Given the description of an element on the screen output the (x, y) to click on. 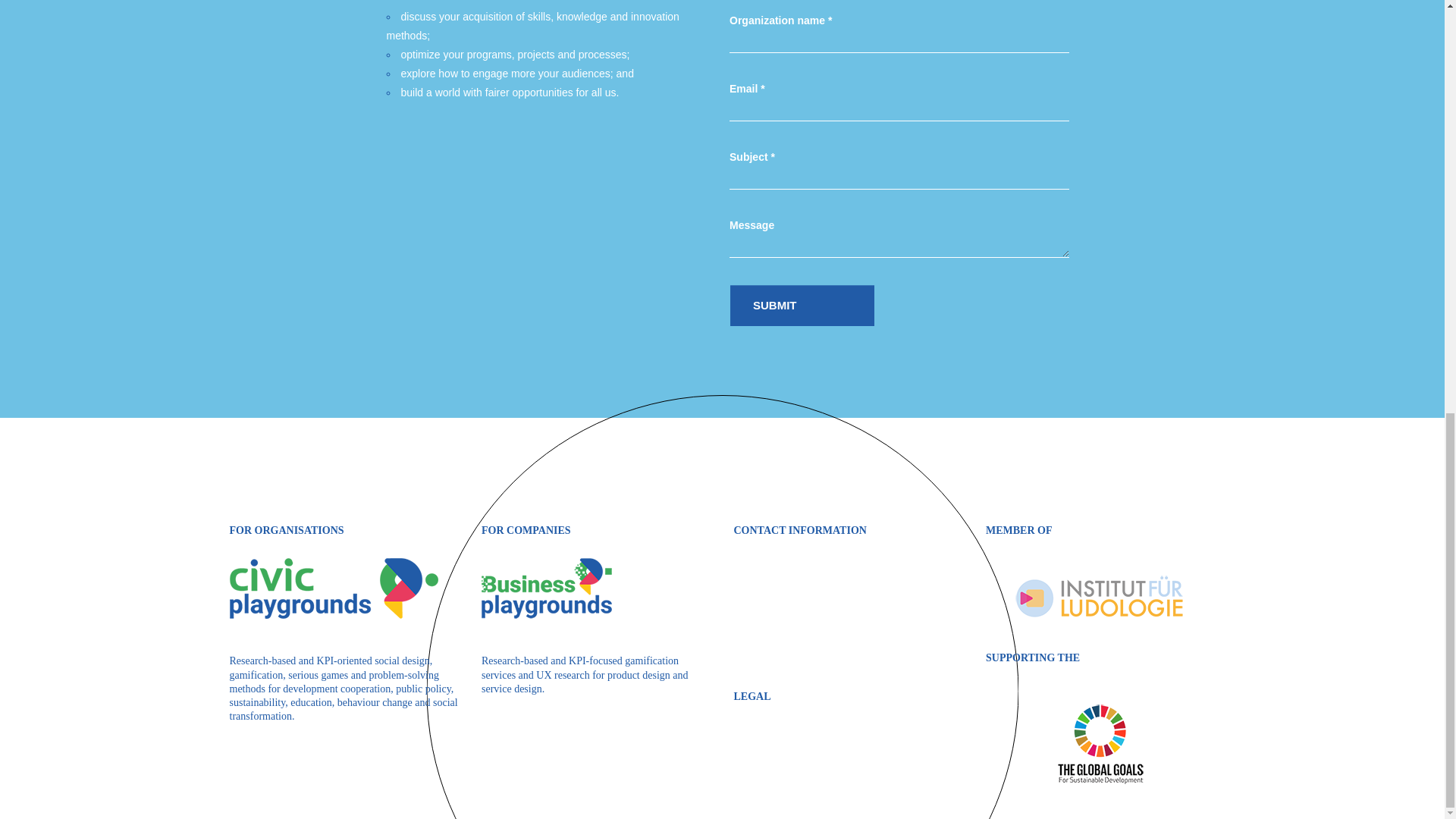
SUBMIT (802, 305)
IMPRINT (755, 760)
PRIVACY POLICY (776, 739)
COOKIES (756, 781)
